Given the description of an element on the screen output the (x, y) to click on. 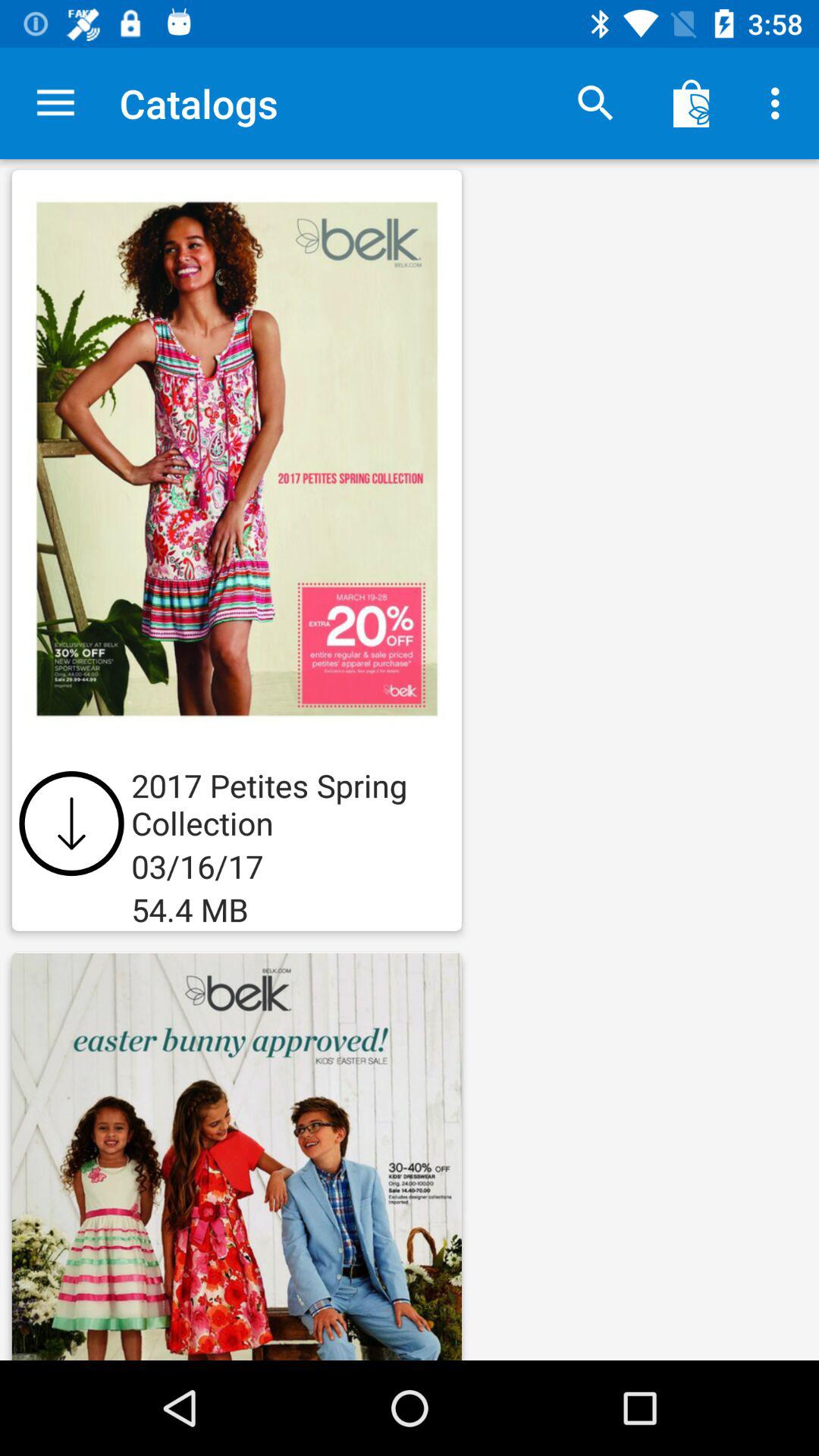
press the icon to the right of the catalogs icon (595, 103)
